Given the description of an element on the screen output the (x, y) to click on. 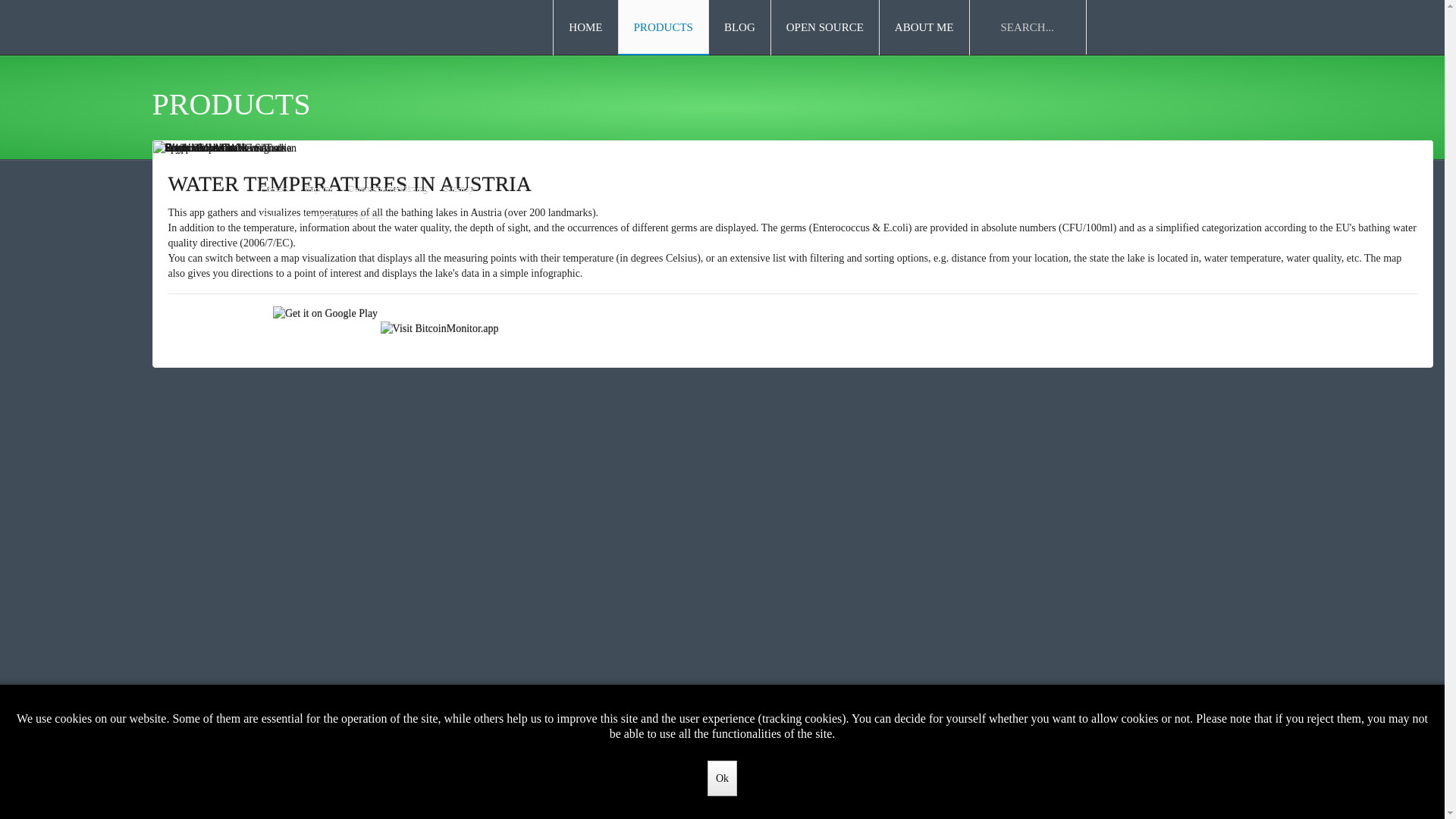
PUBLIC TOILETS IN VIENNA (308, 183)
HOME (585, 27)
 Citybikes (460, 283)
Crypto Coin Check (782, 148)
Apple App Store: Stock Watch (219, 298)
Reset (3, 2)
Apple App Store: Spritpreise AT (219, 268)
STOCK WATCH: FANG SIGNALS (322, 183)
Get it on Google Play (325, 268)
Apple App Store: Bitcoin Monitor (219, 289)
 Crypto Coin Check (479, 268)
Bitcoin Monitor (625, 148)
SPRITPREISE AT - CLEVER TANKEN (342, 183)
CRYPTO COIN CHECK (276, 183)
BLOG (739, 27)
